Given the description of an element on the screen output the (x, y) to click on. 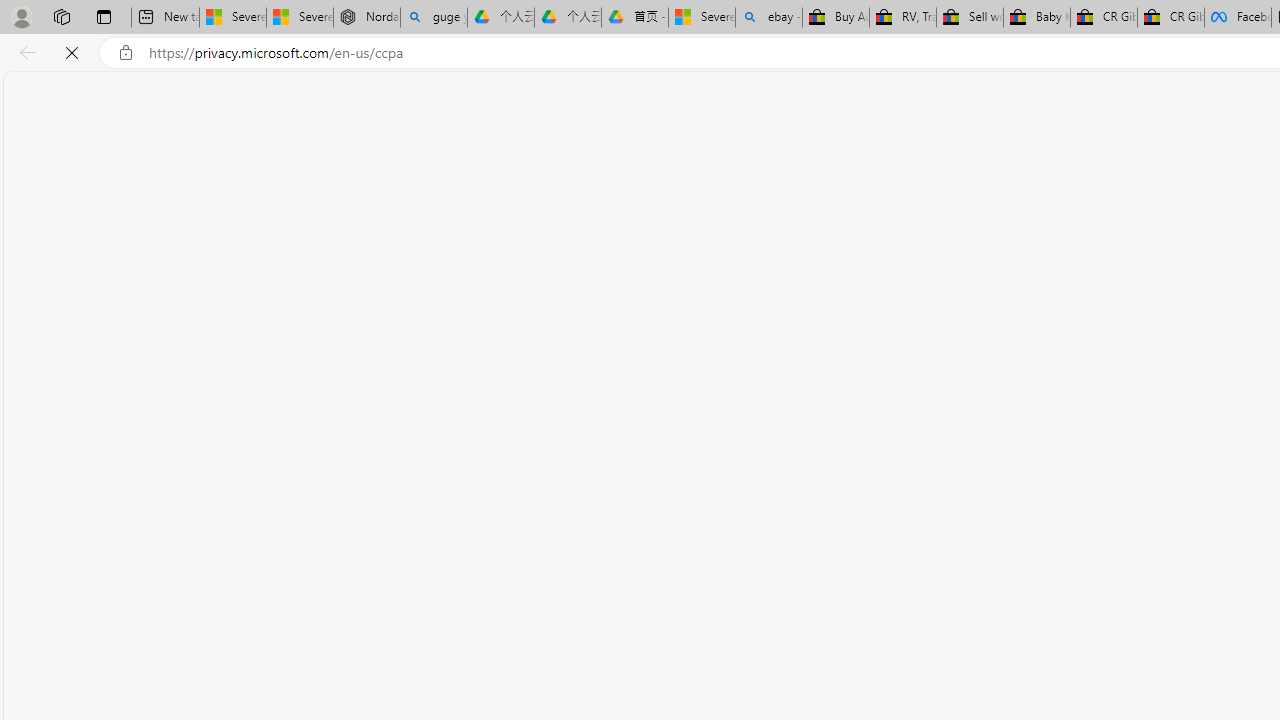
Facebook (1237, 17)
Buy Auto Parts & Accessories | eBay (835, 17)
RV, Trailer & Camper Steps & Ladders for sale | eBay (902, 17)
Sell worldwide with eBay (970, 17)
